Given the description of an element on the screen output the (x, y) to click on. 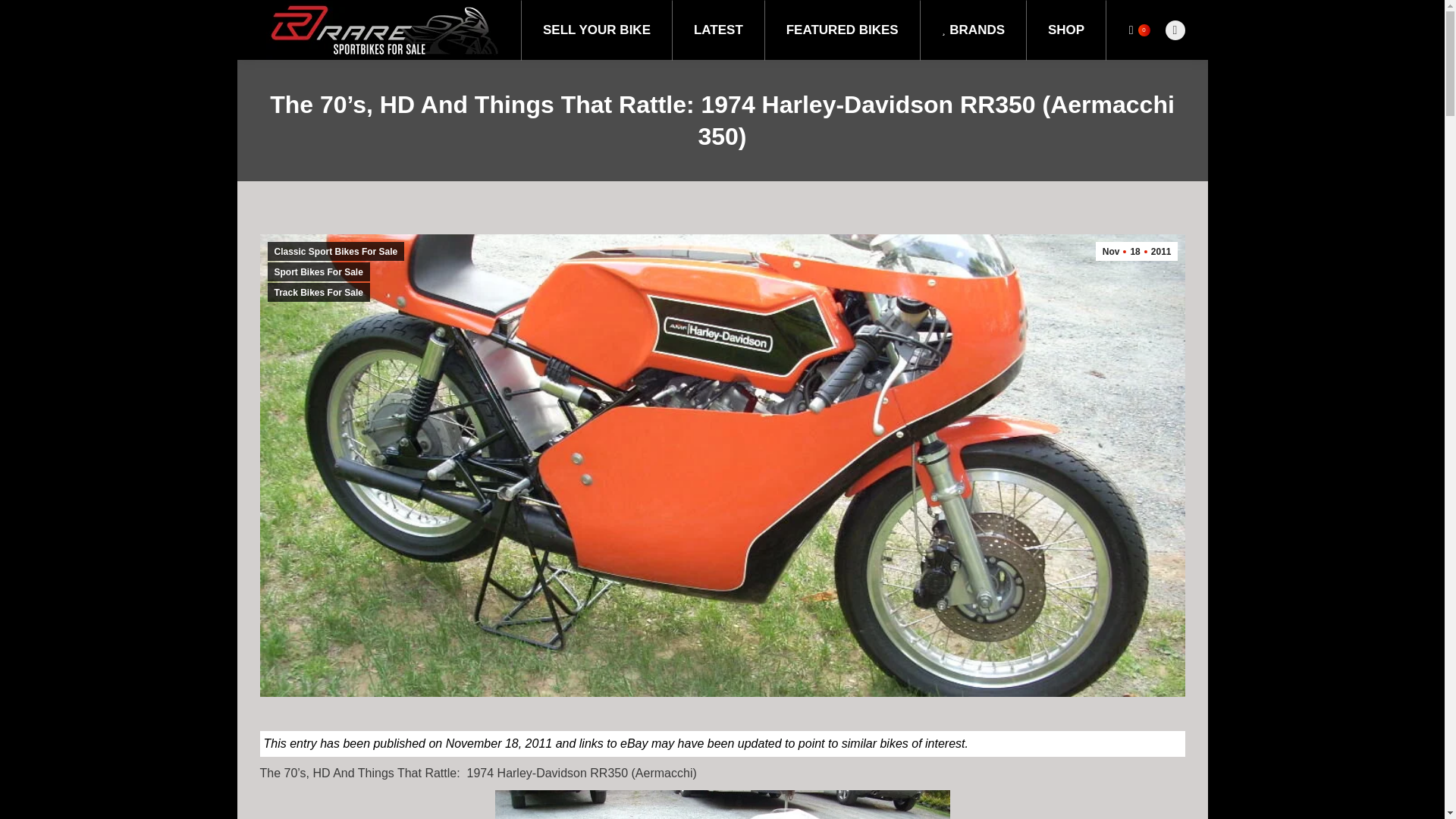
Facebook page opens in new window (1174, 29)
LATEST (717, 29)
SELL YOUR BIKE (596, 29)
FEATURED BIKES (842, 29)
 0 (1139, 29)
BRANDS (973, 29)
hd right (722, 804)
Facebook page opens in new window (1174, 29)
6:12 am (1136, 251)
